Given the description of an element on the screen output the (x, y) to click on. 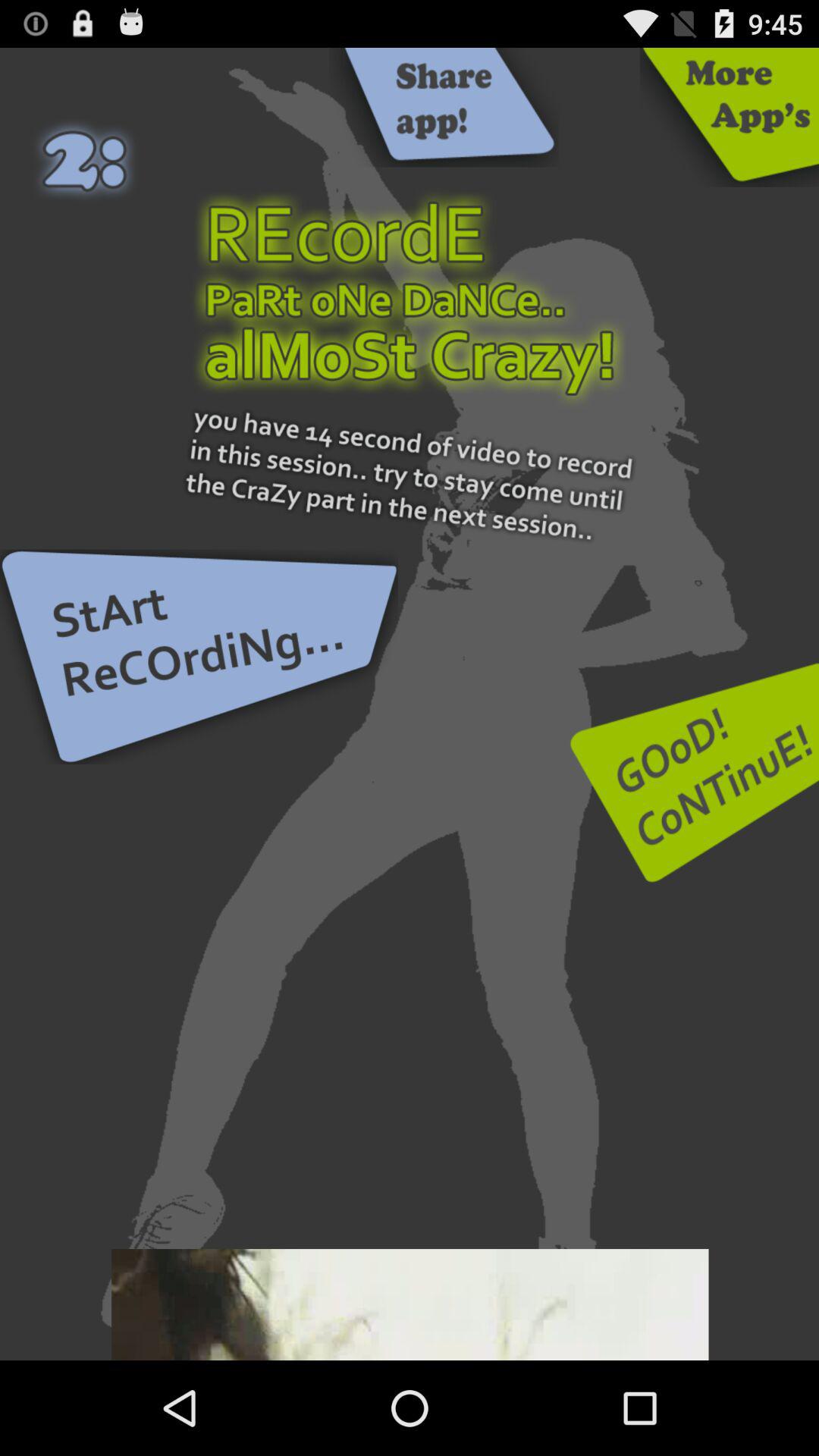
opens more apps (729, 117)
